Given the description of an element on the screen output the (x, y) to click on. 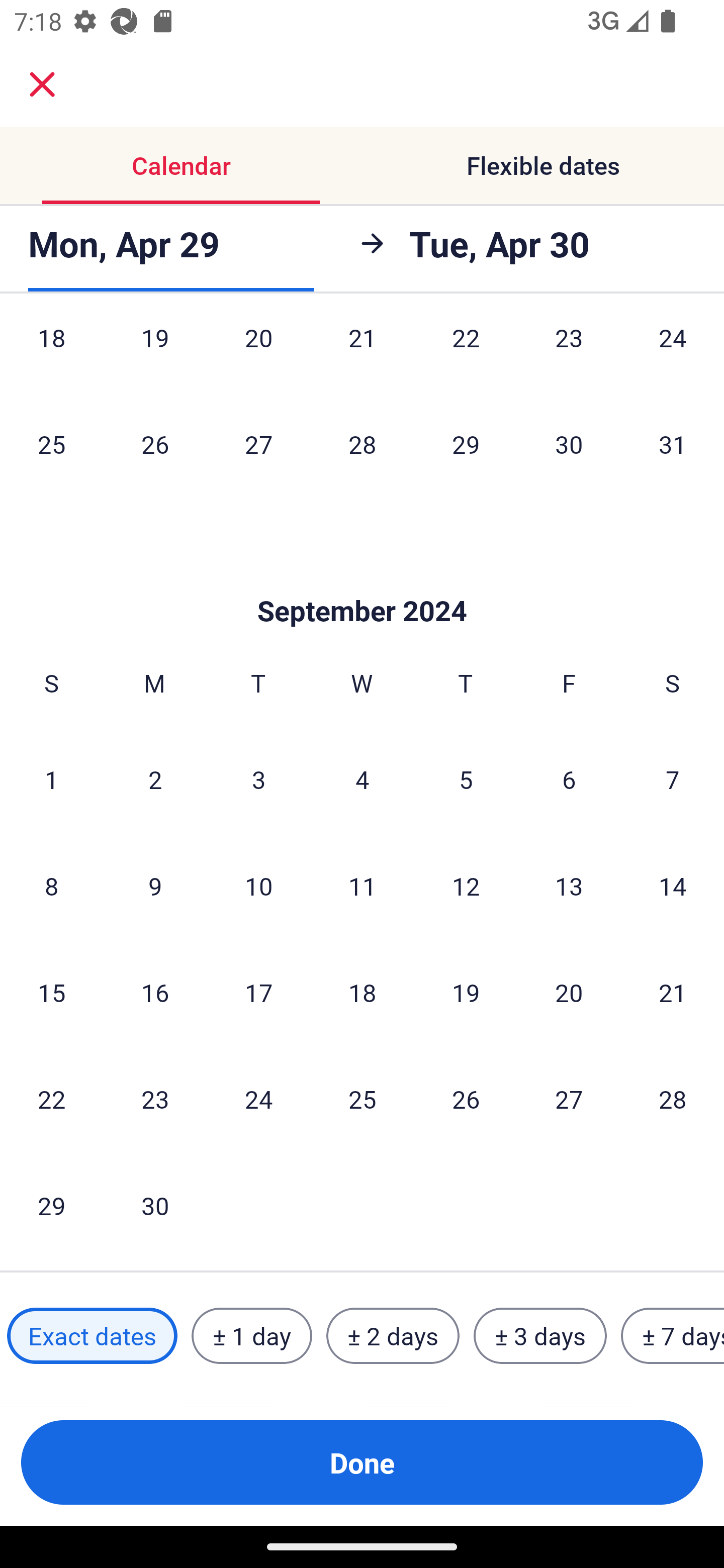
close. (42, 84)
Flexible dates (542, 164)
18 Sunday, August 18, 2024 (51, 354)
19 Monday, August 19, 2024 (155, 354)
20 Tuesday, August 20, 2024 (258, 354)
21 Wednesday, August 21, 2024 (362, 354)
22 Thursday, August 22, 2024 (465, 354)
23 Friday, August 23, 2024 (569, 354)
24 Saturday, August 24, 2024 (672, 354)
25 Sunday, August 25, 2024 (51, 443)
26 Monday, August 26, 2024 (155, 443)
27 Tuesday, August 27, 2024 (258, 443)
28 Wednesday, August 28, 2024 (362, 443)
29 Thursday, August 29, 2024 (465, 443)
30 Friday, August 30, 2024 (569, 443)
31 Saturday, August 31, 2024 (672, 443)
Skip to Done (362, 580)
1 Sunday, September 1, 2024 (51, 779)
2 Monday, September 2, 2024 (155, 779)
3 Tuesday, September 3, 2024 (258, 779)
4 Wednesday, September 4, 2024 (362, 779)
5 Thursday, September 5, 2024 (465, 779)
6 Friday, September 6, 2024 (569, 779)
7 Saturday, September 7, 2024 (672, 779)
8 Sunday, September 8, 2024 (51, 885)
9 Monday, September 9, 2024 (155, 885)
10 Tuesday, September 10, 2024 (258, 885)
11 Wednesday, September 11, 2024 (362, 885)
12 Thursday, September 12, 2024 (465, 885)
13 Friday, September 13, 2024 (569, 885)
14 Saturday, September 14, 2024 (672, 885)
15 Sunday, September 15, 2024 (51, 992)
16 Monday, September 16, 2024 (155, 992)
17 Tuesday, September 17, 2024 (258, 992)
18 Wednesday, September 18, 2024 (362, 992)
19 Thursday, September 19, 2024 (465, 992)
20 Friday, September 20, 2024 (569, 992)
21 Saturday, September 21, 2024 (672, 992)
22 Sunday, September 22, 2024 (51, 1098)
23 Monday, September 23, 2024 (155, 1098)
24 Tuesday, September 24, 2024 (258, 1098)
25 Wednesday, September 25, 2024 (362, 1098)
26 Thursday, September 26, 2024 (465, 1098)
27 Friday, September 27, 2024 (569, 1098)
28 Saturday, September 28, 2024 (672, 1098)
29 Sunday, September 29, 2024 (51, 1205)
30 Monday, September 30, 2024 (155, 1205)
Exact dates (92, 1335)
± 1 day (251, 1335)
± 2 days (392, 1335)
± 3 days (539, 1335)
± 7 days (672, 1335)
Done (361, 1462)
